Given the description of an element on the screen output the (x, y) to click on. 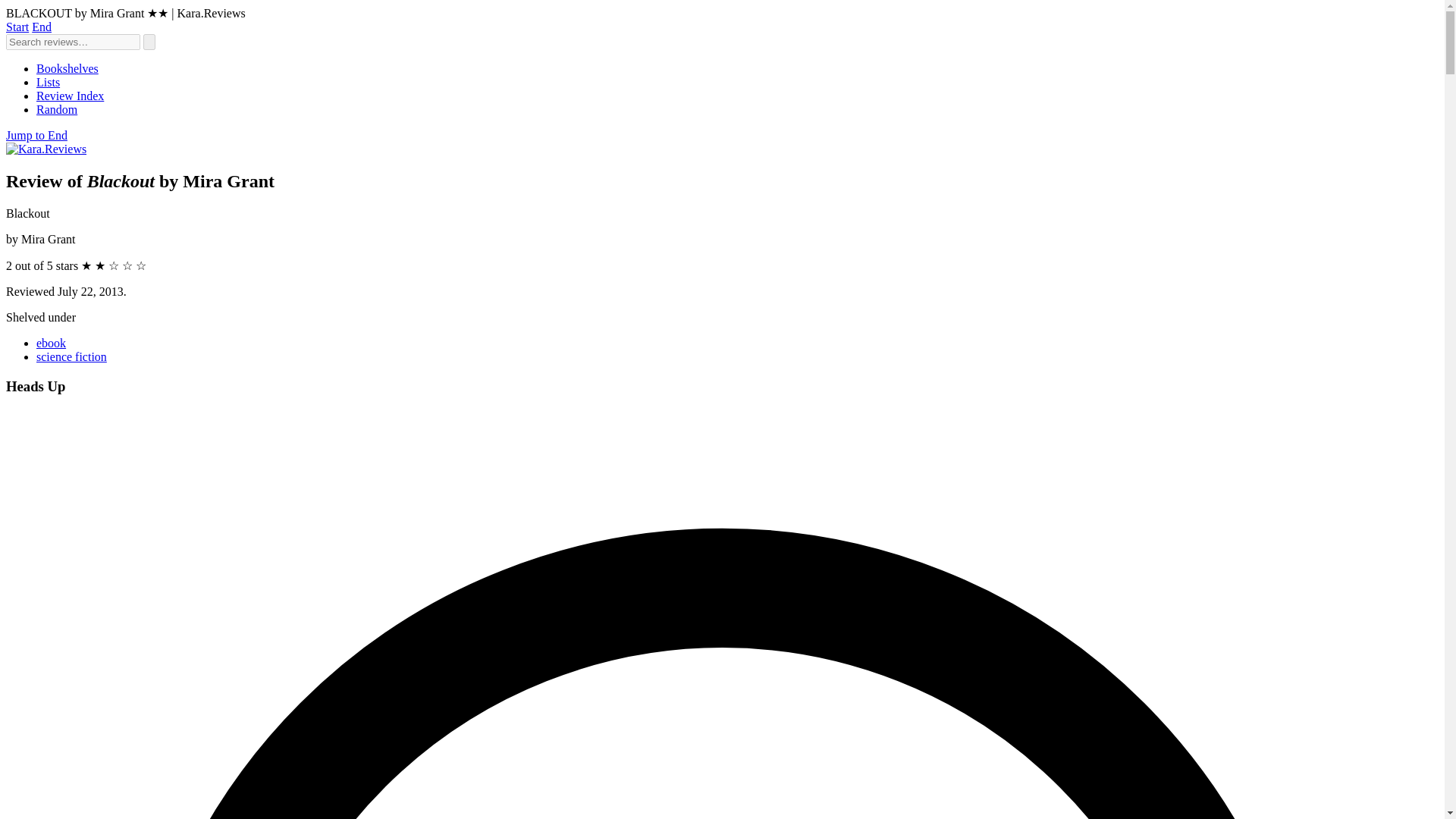
Reviews organized by categories (67, 68)
Review Index (69, 95)
Jump to top of page (17, 26)
Random (56, 109)
Jump to End (35, 134)
Jump to footer (41, 26)
All my reviews, grouped by year and month (69, 95)
Search (148, 41)
Lists (47, 82)
Bookshelves (67, 68)
Are you feeling lucky? (56, 109)
Start (17, 26)
ebook (50, 342)
Go (148, 41)
End (41, 26)
